Given the description of an element on the screen output the (x, y) to click on. 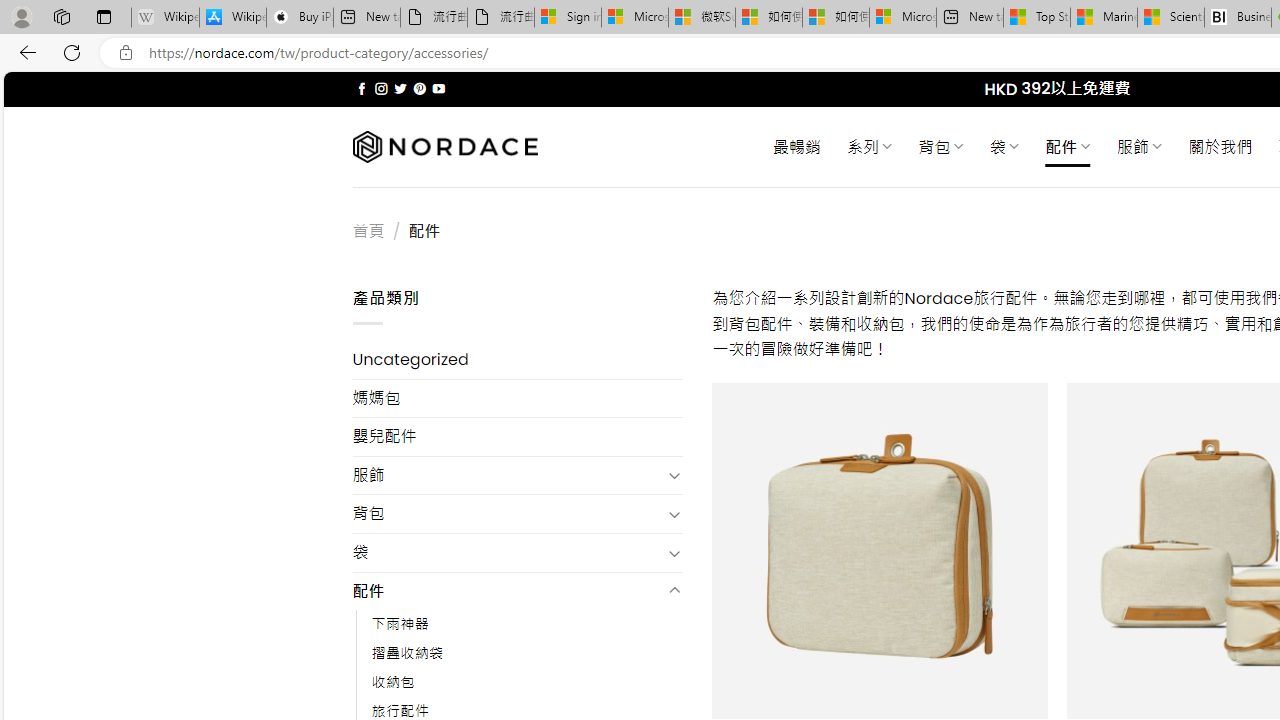
Microsoft account | Account Checkup (902, 17)
Follow on Facebook (361, 88)
Uncategorized (517, 359)
